Given the description of an element on the screen output the (x, y) to click on. 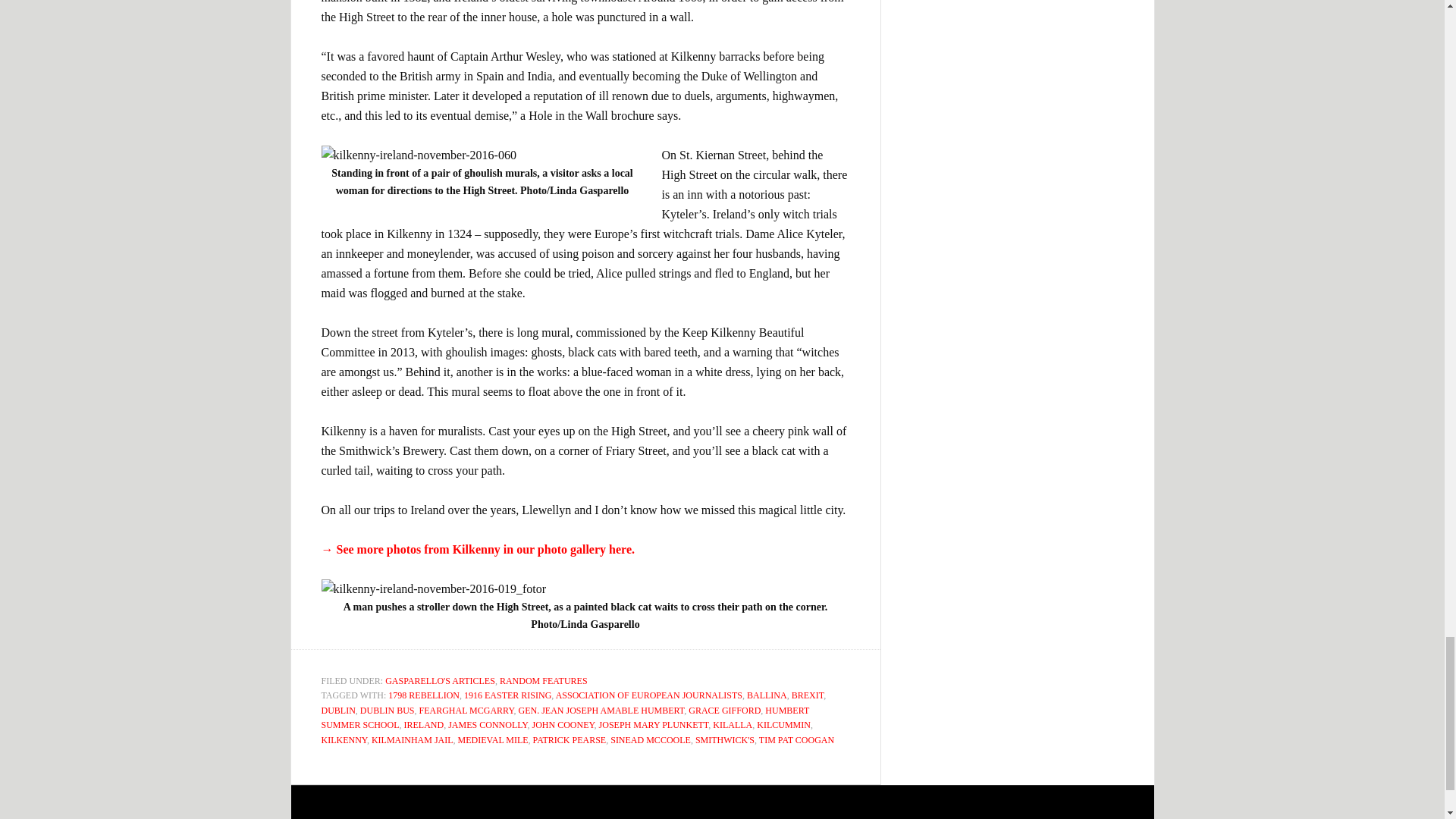
BALLINA (766, 695)
GASPARELLO'S ARTICLES (440, 680)
HUMBERT SUMMER SCHOOL (565, 718)
GRACE GIFFORD (724, 710)
1916 EASTER RISING (507, 695)
KILKENNY (343, 739)
FEARGHAL MCGARRY (466, 710)
IRELAND (424, 724)
KILMAINHAM JAIL (411, 739)
RANDOM FEATURES (543, 680)
